Given the description of an element on the screen output the (x, y) to click on. 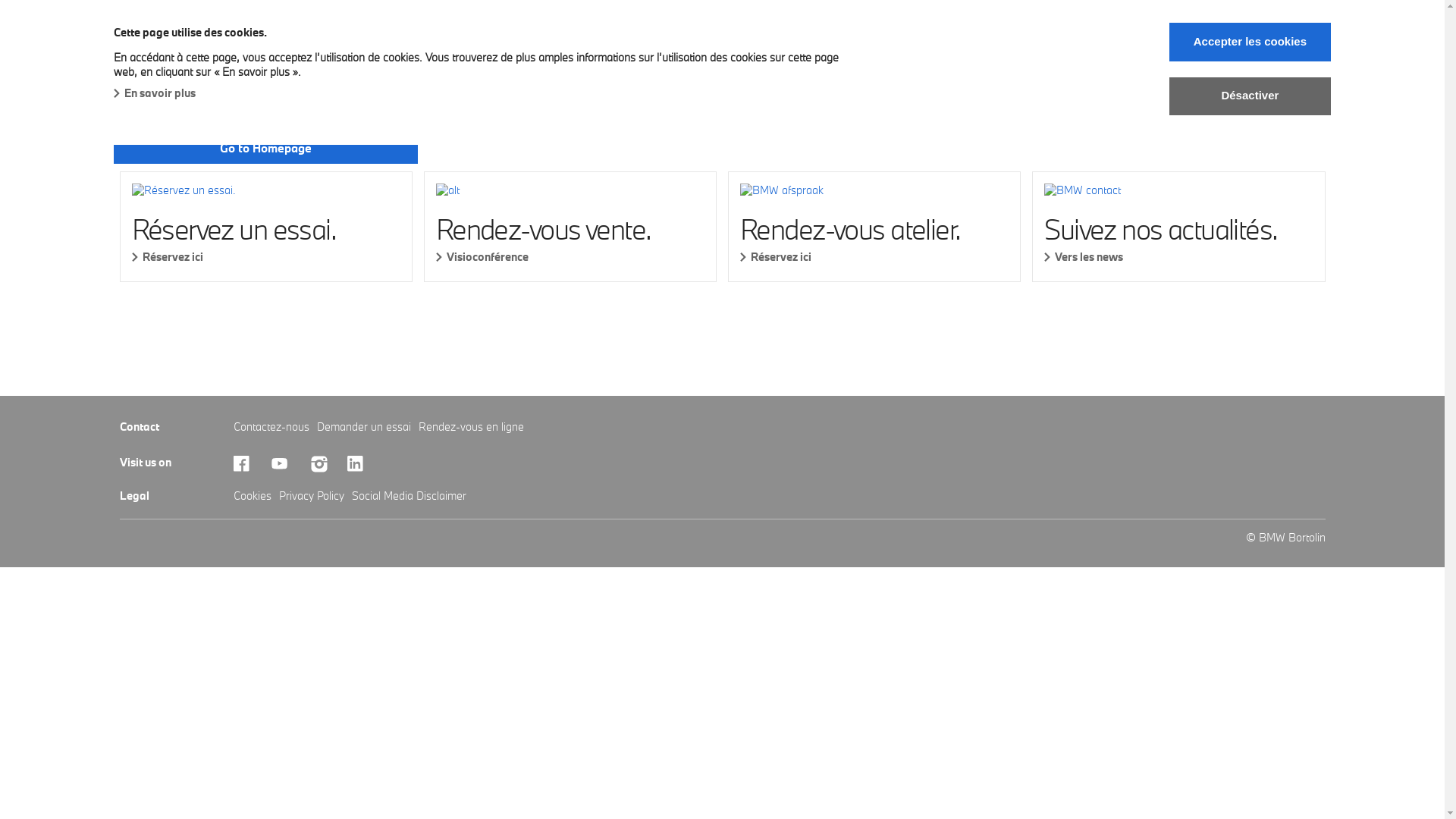
En savoir plus Element type: text (154, 92)
Social Media Disclaimer Element type: text (408, 495)
Nos concessions Element type: text (906, 63)
Go to Homepage Element type: text (265, 148)
BMW Bortolin Element type: text (155, 31)
News Element type: text (997, 63)
Privacy Policy Element type: text (311, 495)
BMW Financial Services Element type: text (766, 63)
Skip to main content Element type: text (0, 0)
Contact Element type: text (1119, 63)
Avantages Fiscaux Element type: text (170, 63)
Vers les news Element type: text (1178, 256)
Demander un essai Element type: text (363, 426)
Cookies Element type: text (252, 495)
NL/FR Element type: text (1188, 63)
Jobs Element type: text (1055, 63)
Rendez-vous en ligne Element type: text (471, 426)
Contactez-nous Element type: text (271, 426)
Accepter les cookies Element type: text (1249, 41)
